Given the description of an element on the screen output the (x, y) to click on. 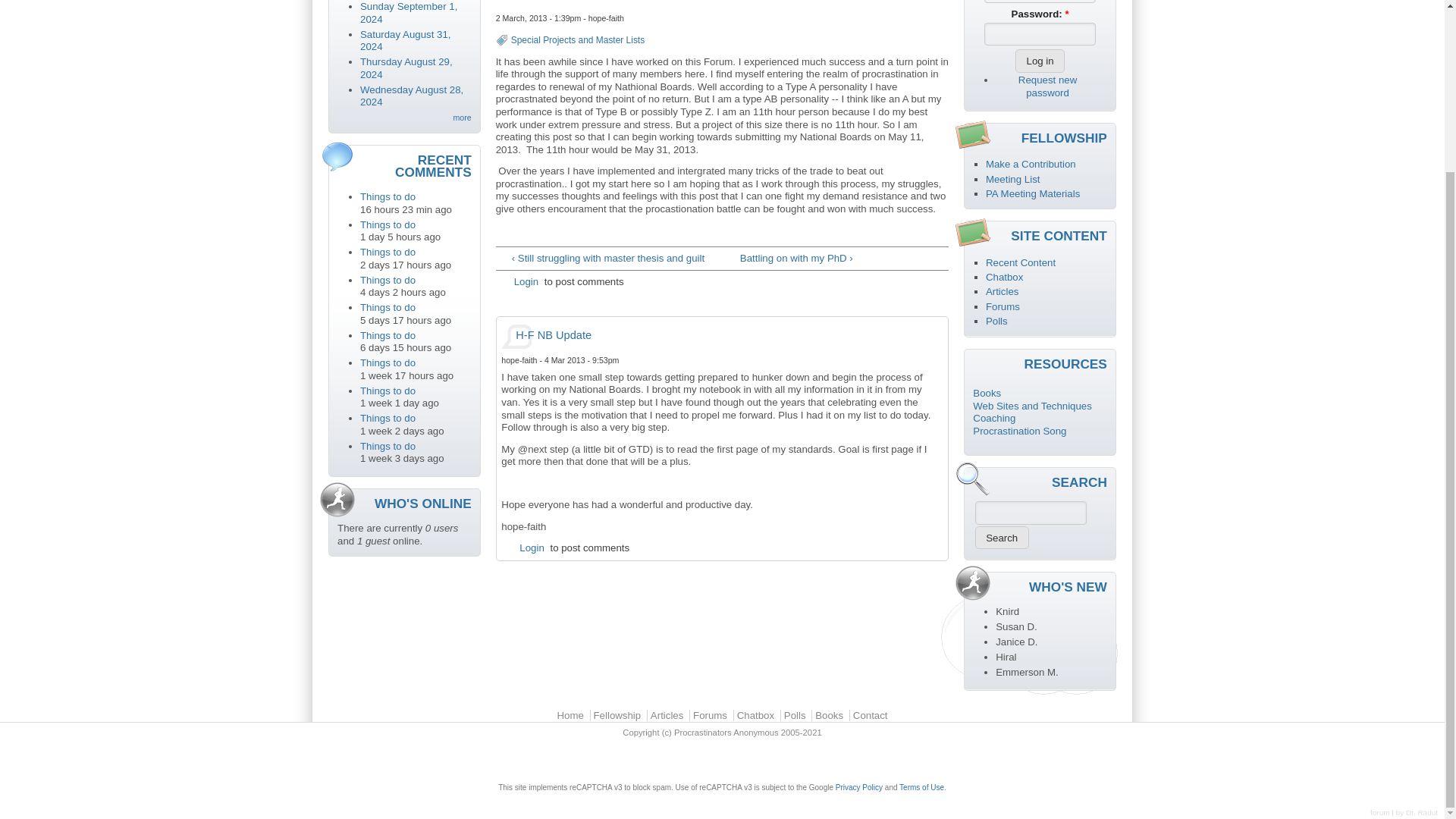
Things to do (386, 418)
Request new password via e-mail. (1047, 86)
Wednesday August 28, 2024 (411, 96)
more (454, 117)
Go to next forum topic (841, 258)
Things to do (386, 446)
Go to previous forum topic (602, 258)
Special Projects and Master Lists (578, 40)
1 comment (408, 12)
Things to do (386, 335)
